Given the description of an element on the screen output the (x, y) to click on. 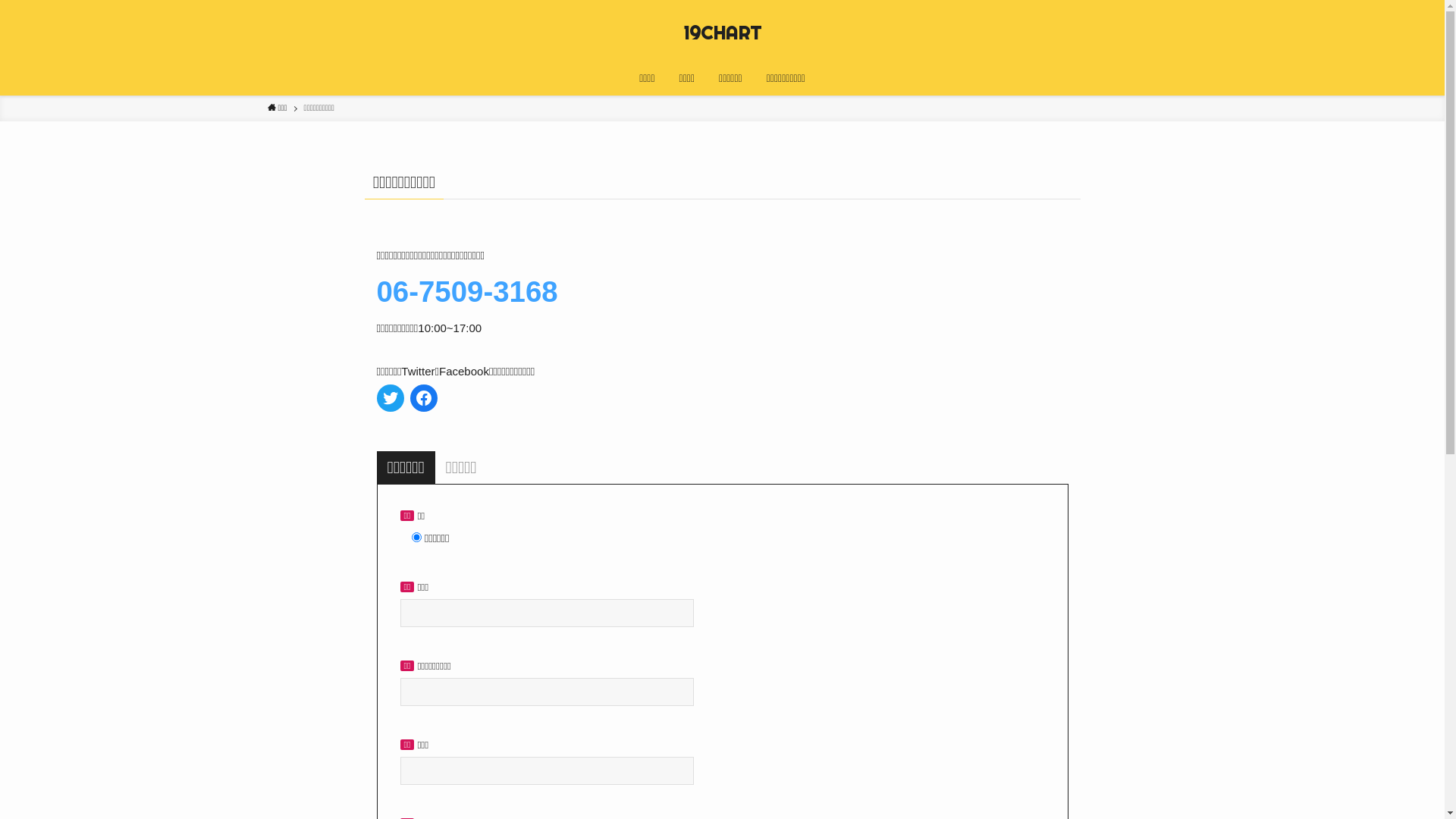
search Element type: text (923, 421)
06-7509-3168 Element type: text (466, 291)
19CHART Element type: text (722, 33)
